Given the description of an element on the screen output the (x, y) to click on. 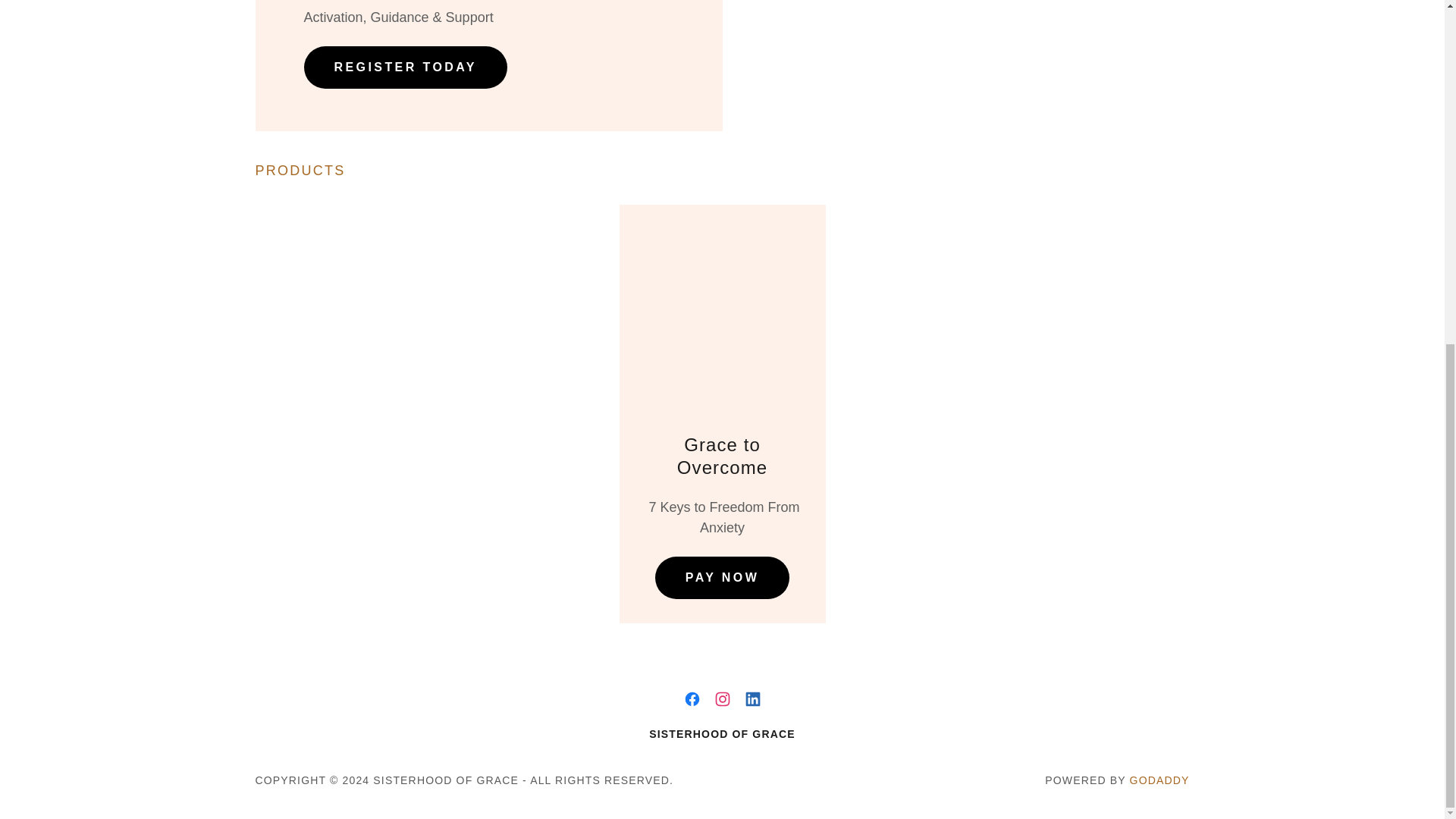
PAY NOW (722, 577)
GODADDY (1159, 779)
REGISTER TODAY (404, 66)
